Given the description of an element on the screen output the (x, y) to click on. 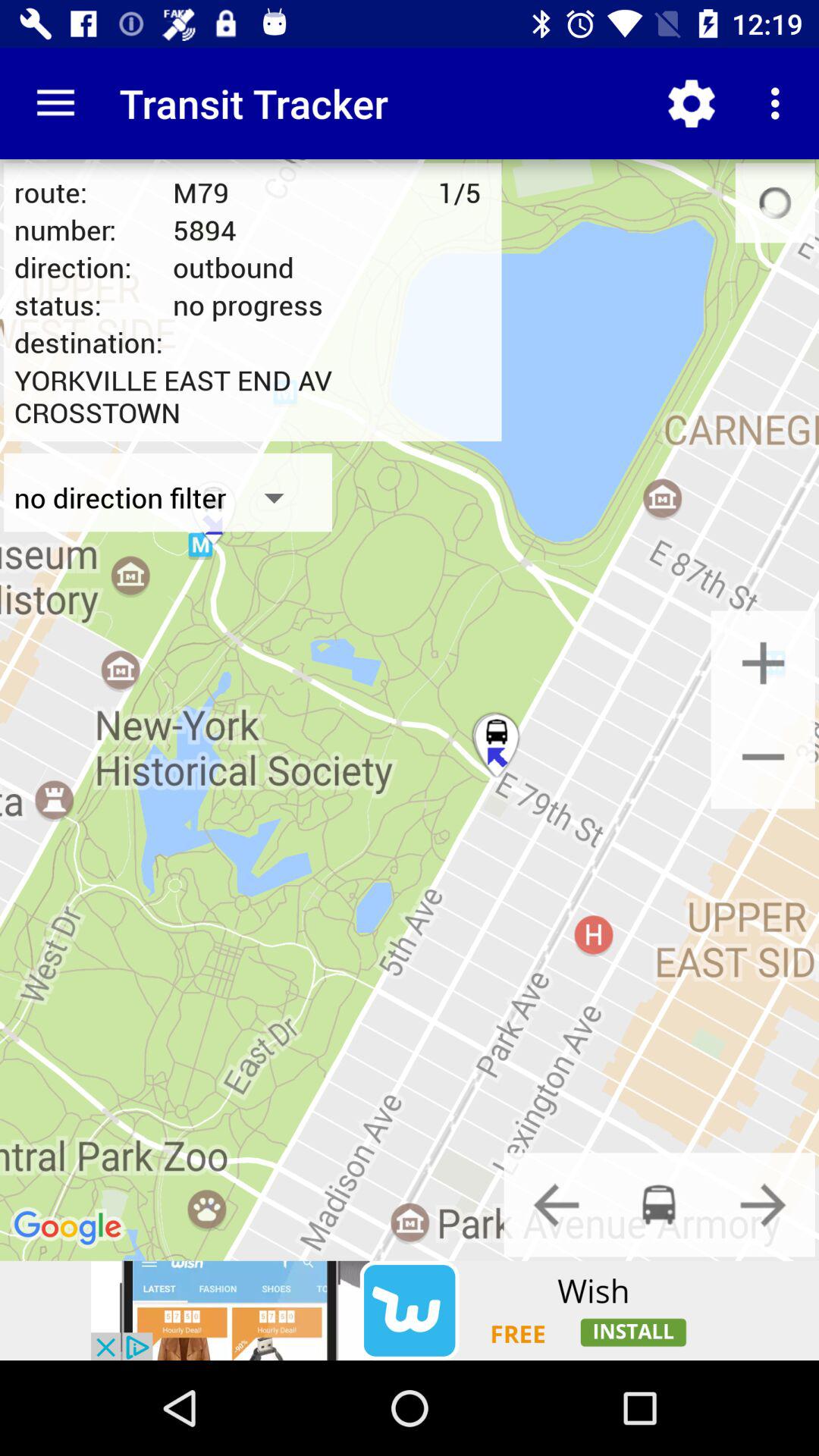
view transit location (659, 1204)
